Given the description of an element on the screen output the (x, y) to click on. 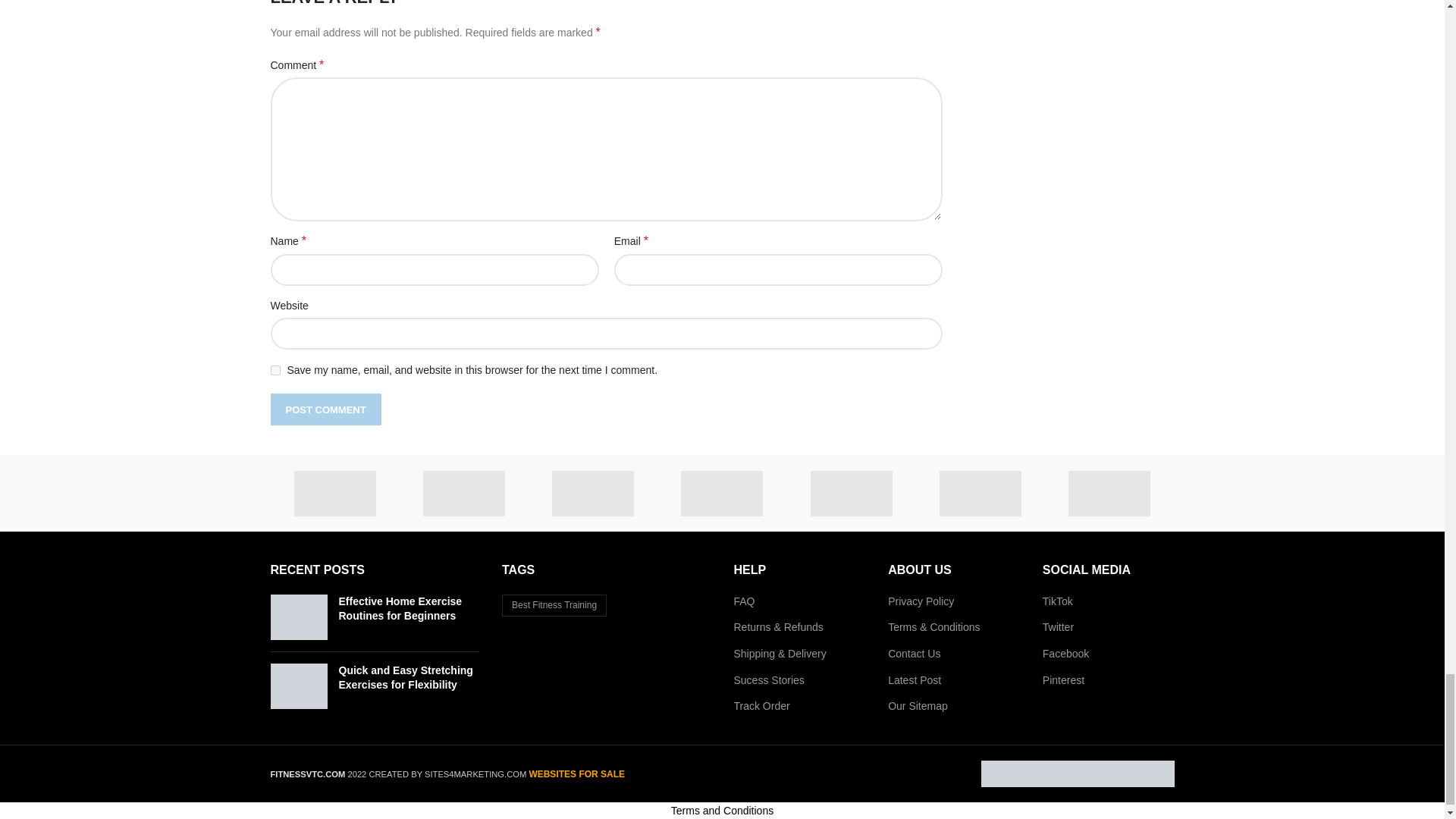
Post Comment (324, 409)
yes (274, 370)
